Given the description of an element on the screen output the (x, y) to click on. 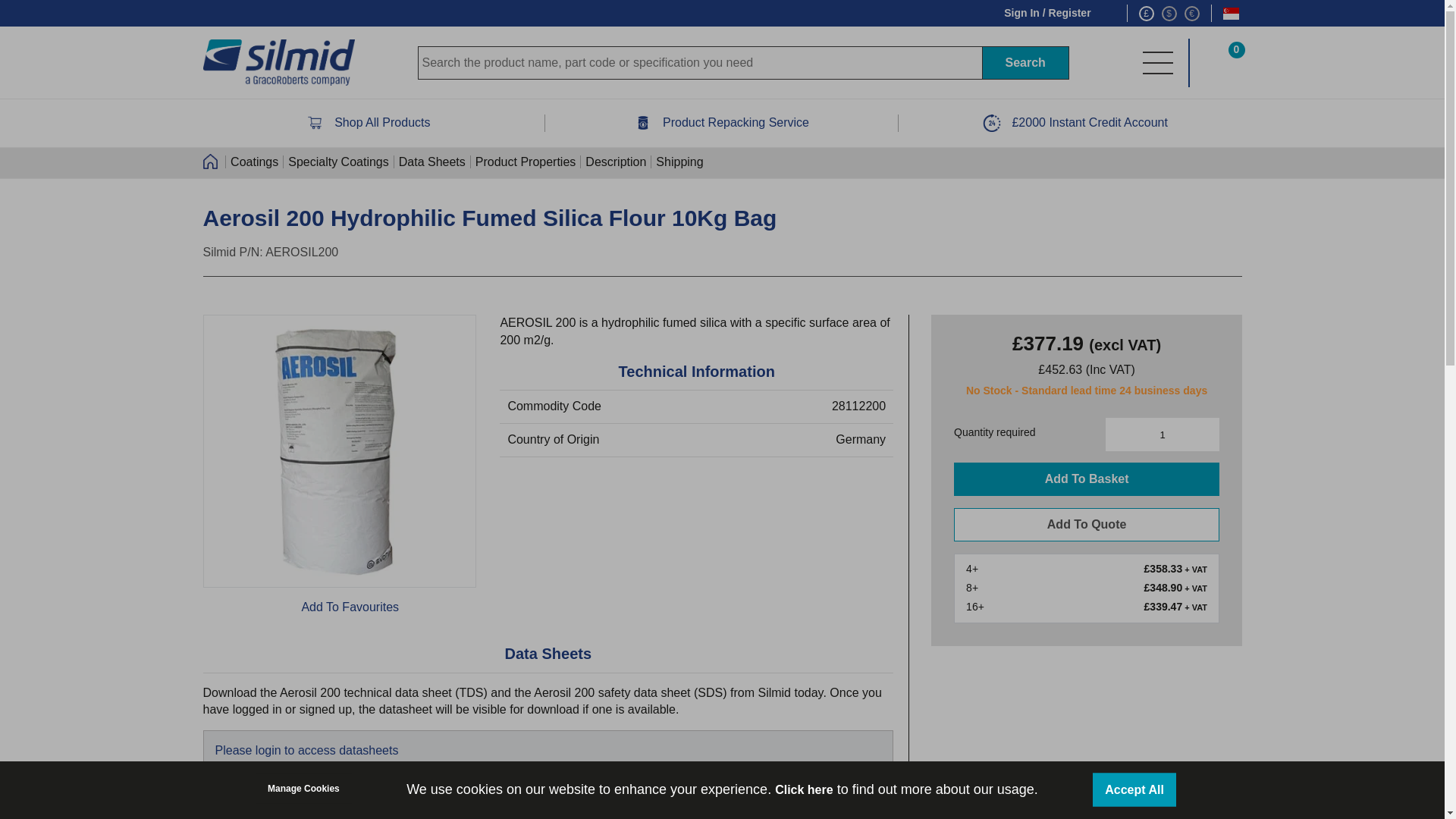
1 (1162, 434)
Click here (803, 789)
Manage Cookies (304, 788)
Accept All (1134, 789)
Add To Quote (1086, 524)
